Given the description of an element on the screen output the (x, y) to click on. 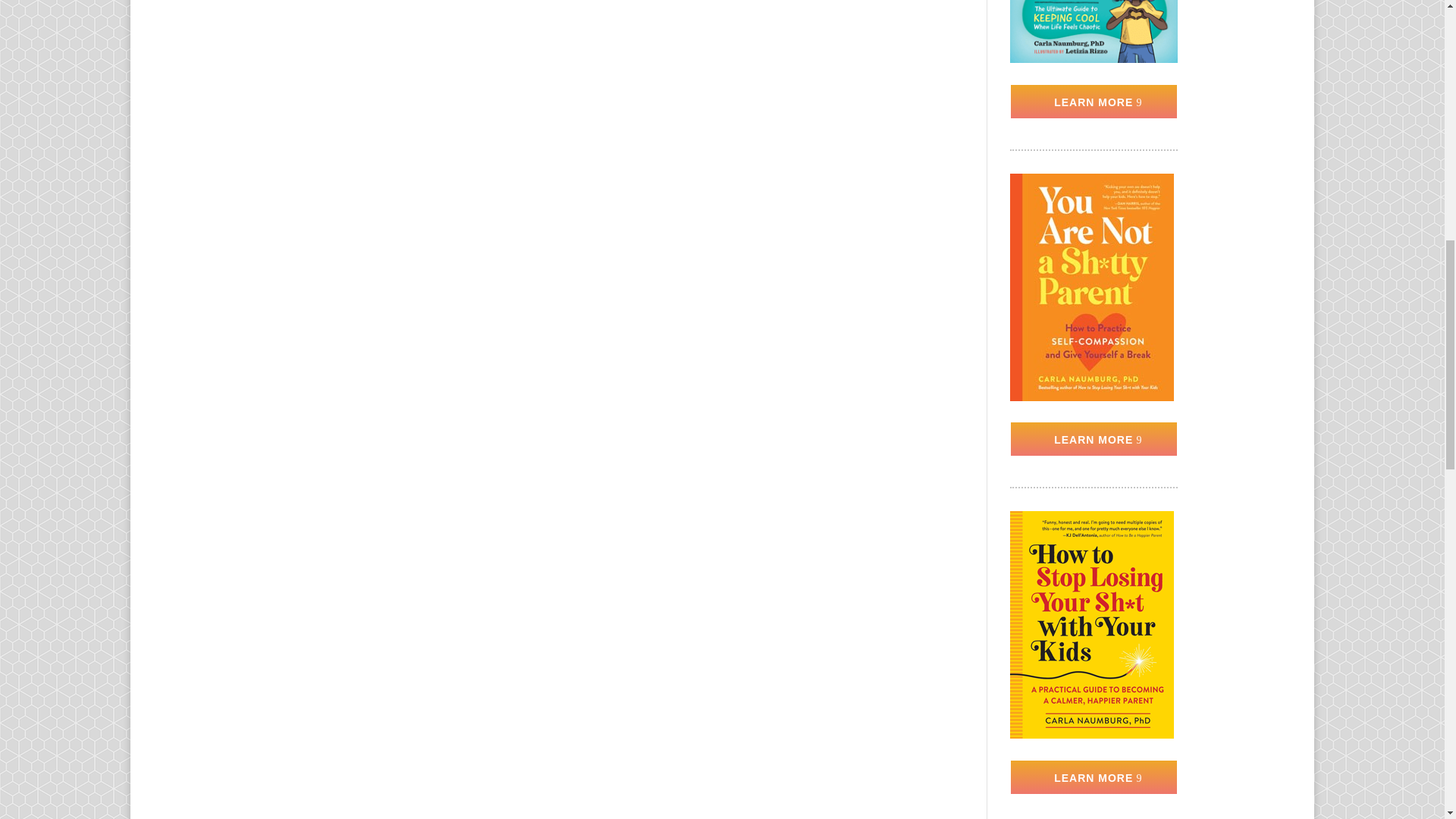
LEARN MORE (1093, 101)
LEARN MORE (1093, 777)
LEARN MORE (1093, 438)
